Given the description of an element on the screen output the (x, y) to click on. 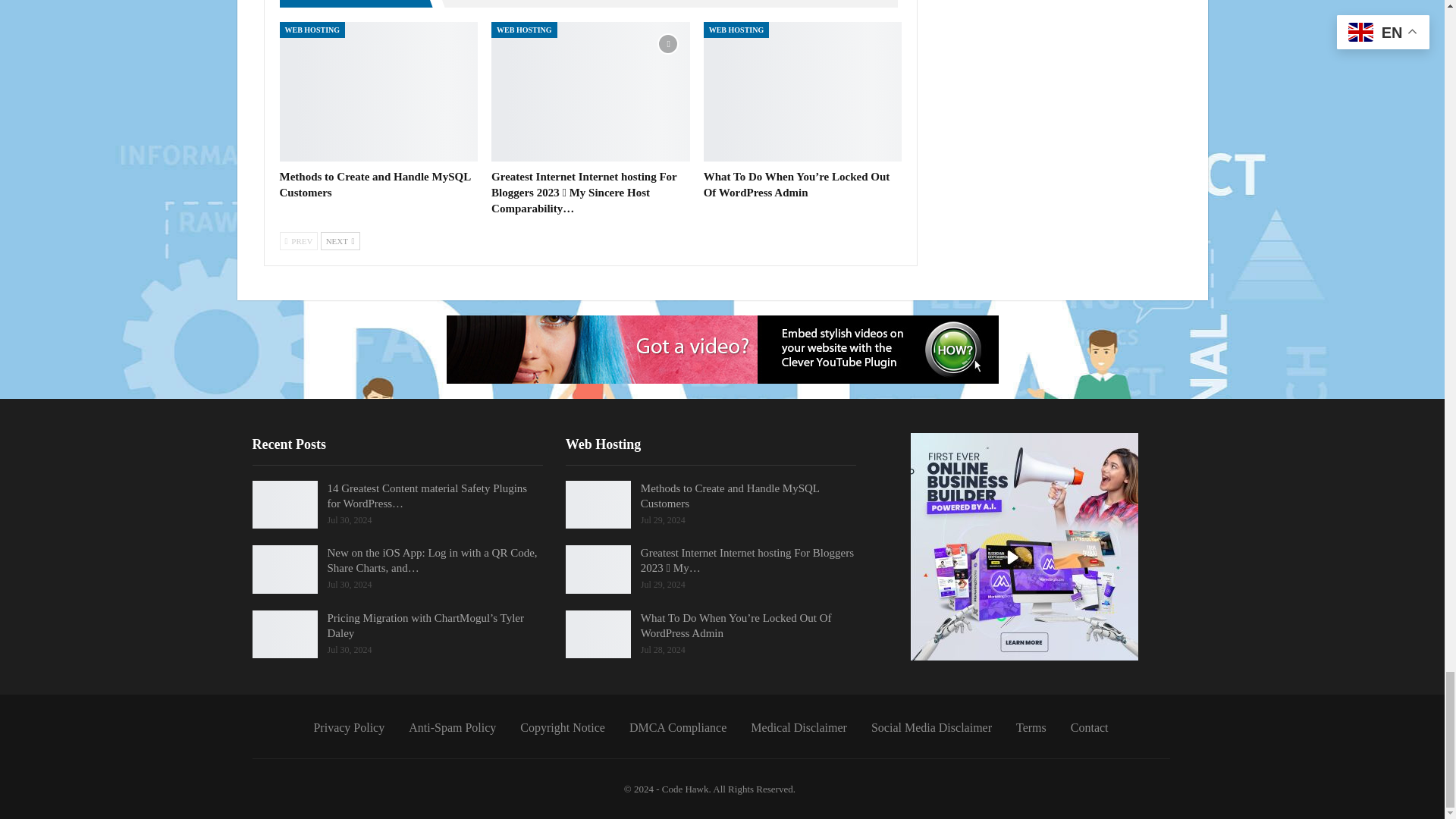
Methods to Create and Handle MySQL Customers (374, 184)
Methods to Create and Handle MySQL Customers (378, 91)
Next (339, 240)
Previous (298, 240)
